Given the description of an element on the screen output the (x, y) to click on. 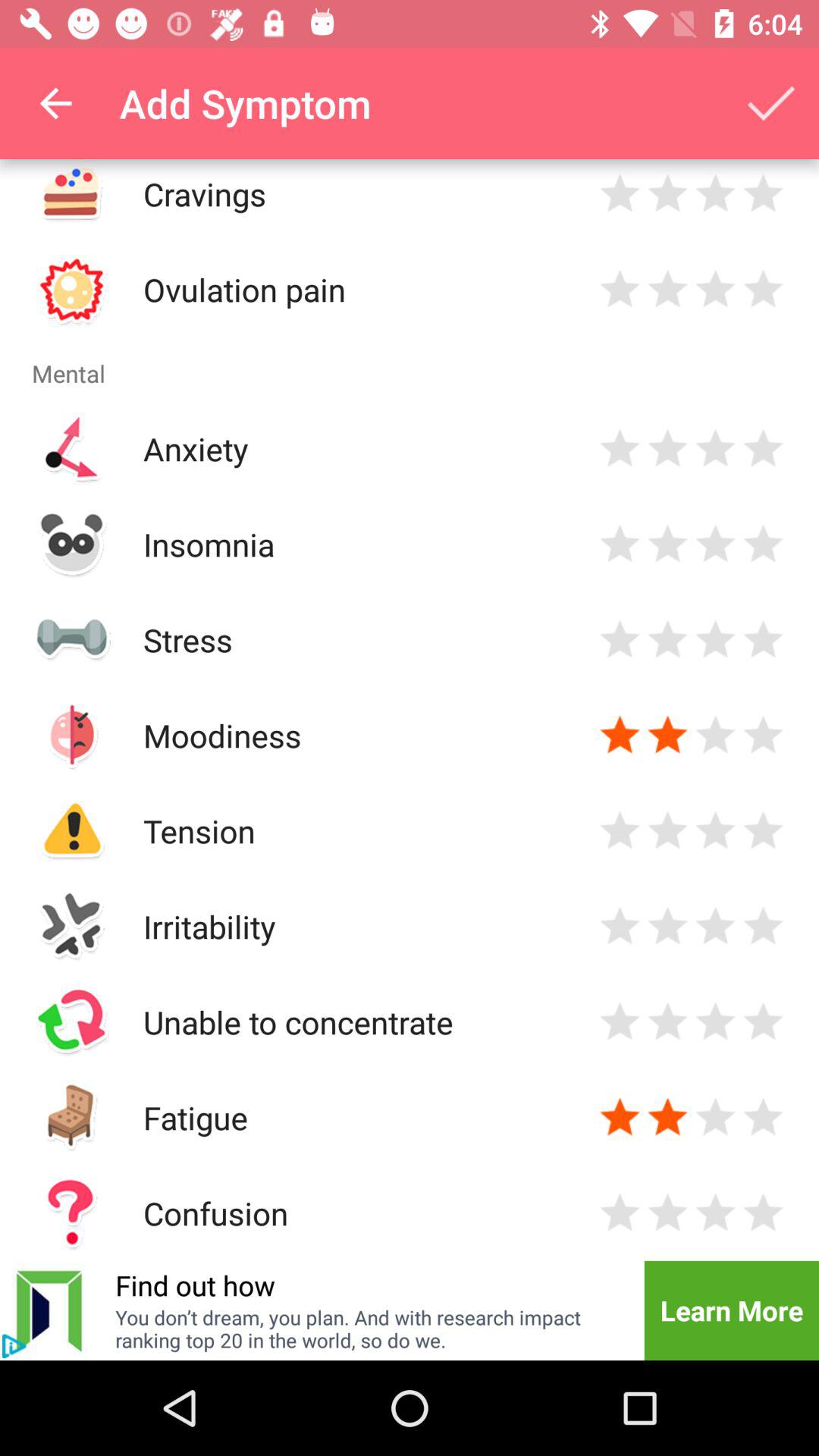
rate symptom one star (619, 639)
